Given the description of an element on the screen output the (x, y) to click on. 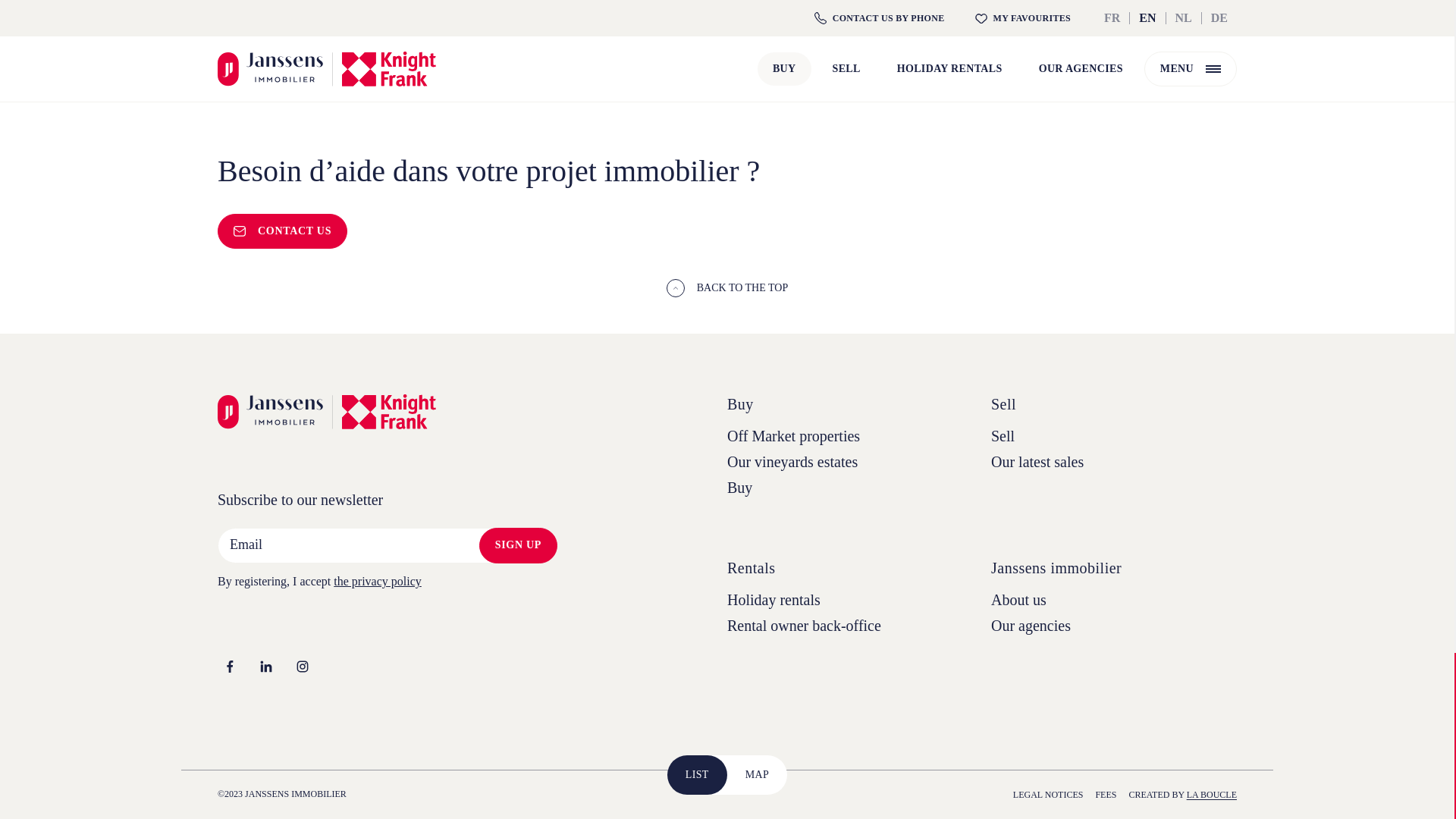
BACK TO THE TOP (726, 288)
Sign up (518, 545)
